Given the description of an element on the screen output the (x, y) to click on. 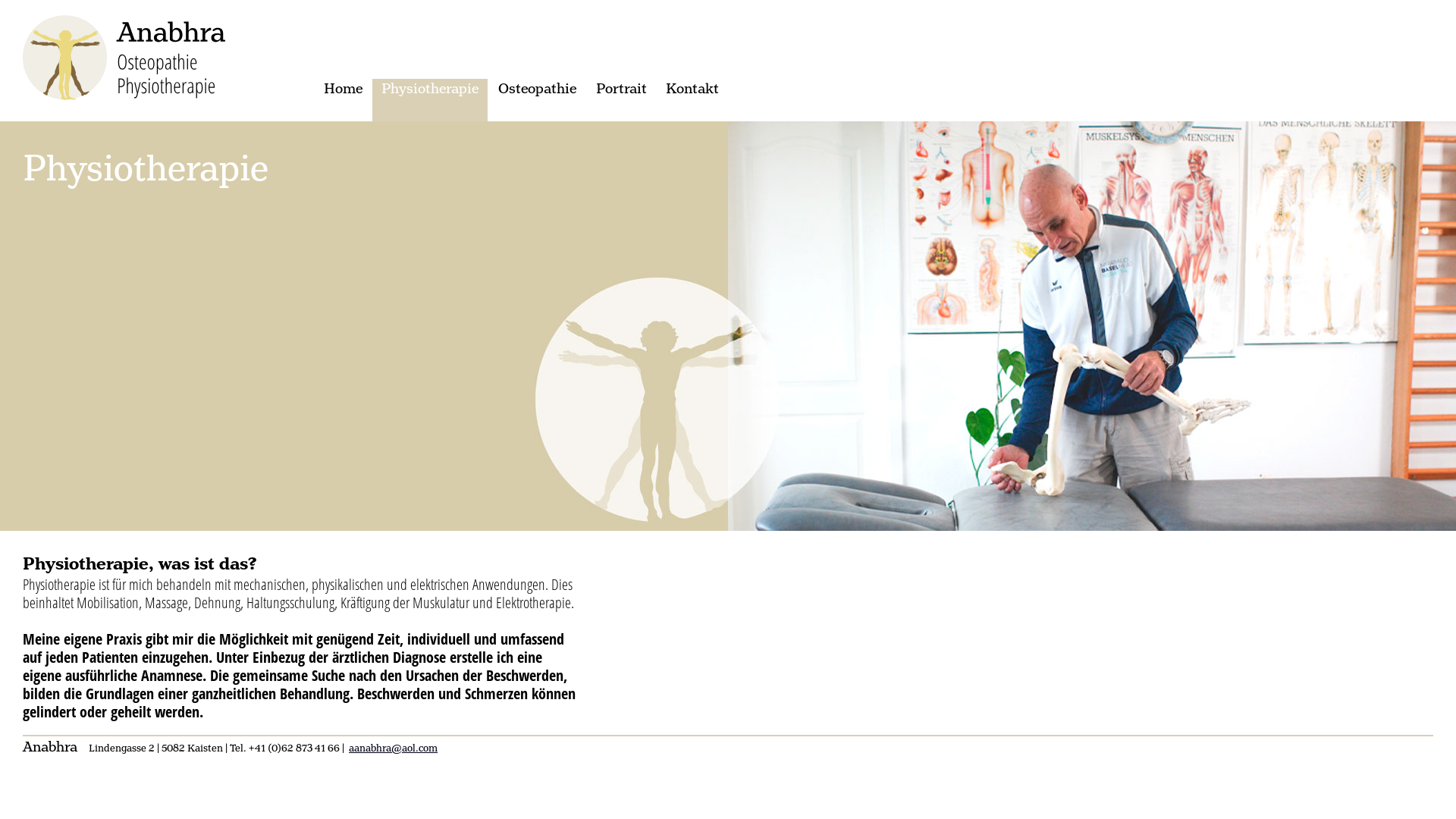
aanabhra@aol.com Element type: text (392, 748)
Home Element type: text (342, 99)
Kontakt Element type: text (691, 99)
Physiotherapie Element type: text (429, 99)
Osteopathie Element type: text (537, 99)
Portrait Element type: text (620, 99)
